Given the description of an element on the screen output the (x, y) to click on. 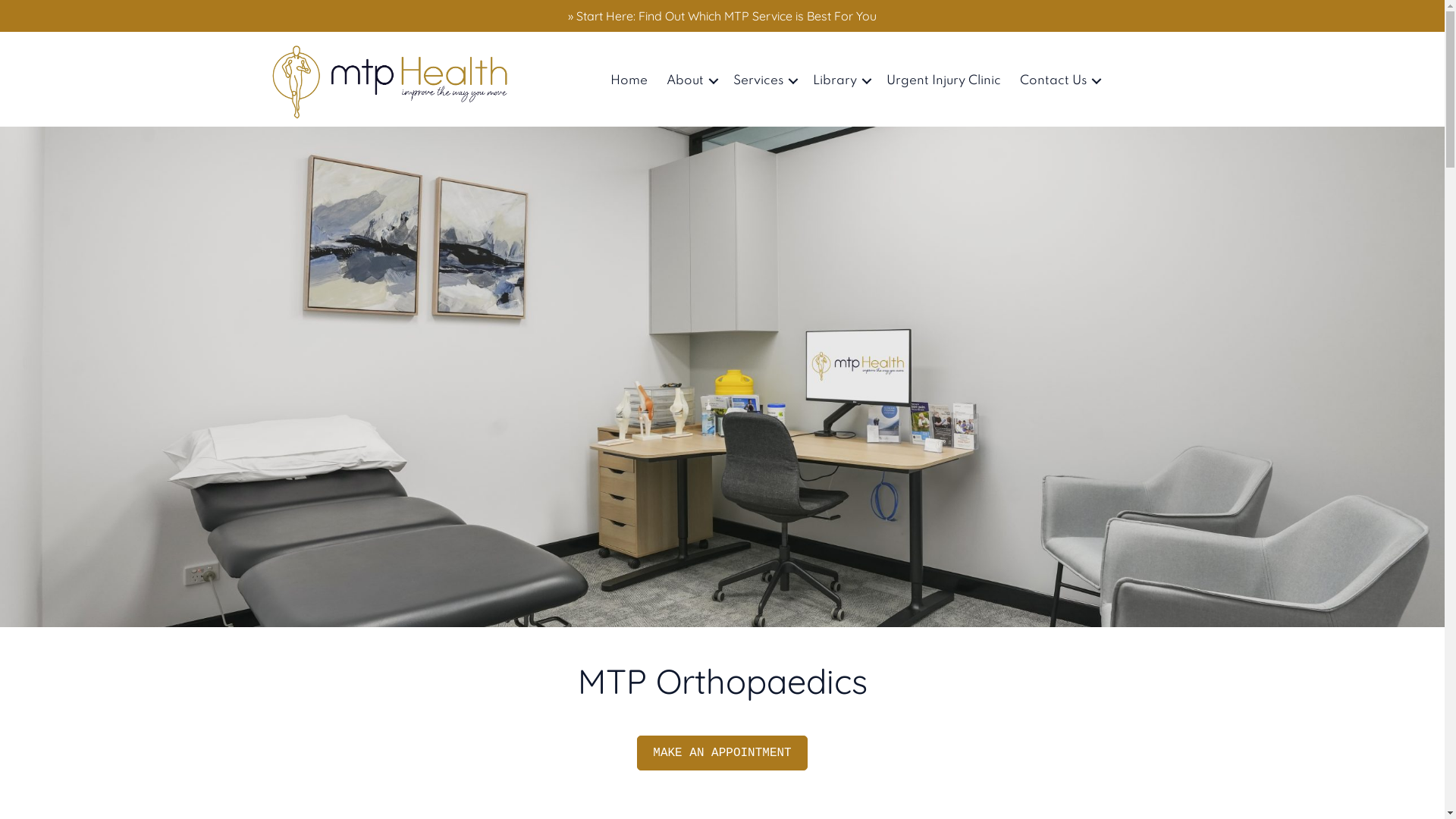
Library Element type: text (839, 80)
Home Element type: text (628, 80)
About Element type: text (690, 80)
Urgent Injury Clinic Element type: text (943, 80)
Contact Us Element type: text (1058, 80)
MAKE AN APPOINTMENT Element type: text (721, 752)
Services Element type: text (763, 80)
